Given the description of an element on the screen output the (x, y) to click on. 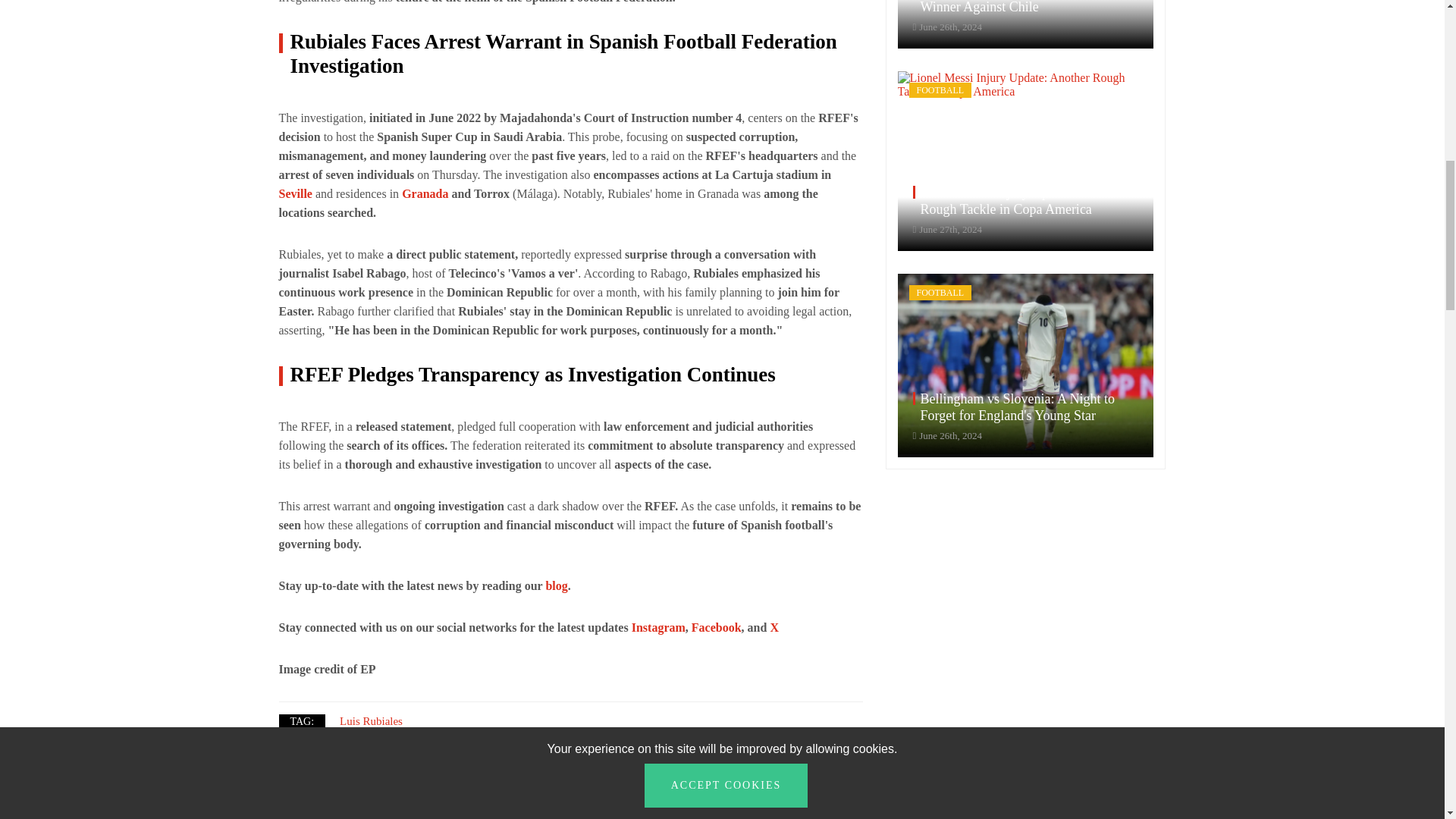
blog (555, 585)
Instagram (658, 626)
Seville (296, 193)
Facebook (716, 626)
Luis Rubiales (371, 720)
Granada (424, 193)
